Given the description of an element on the screen output the (x, y) to click on. 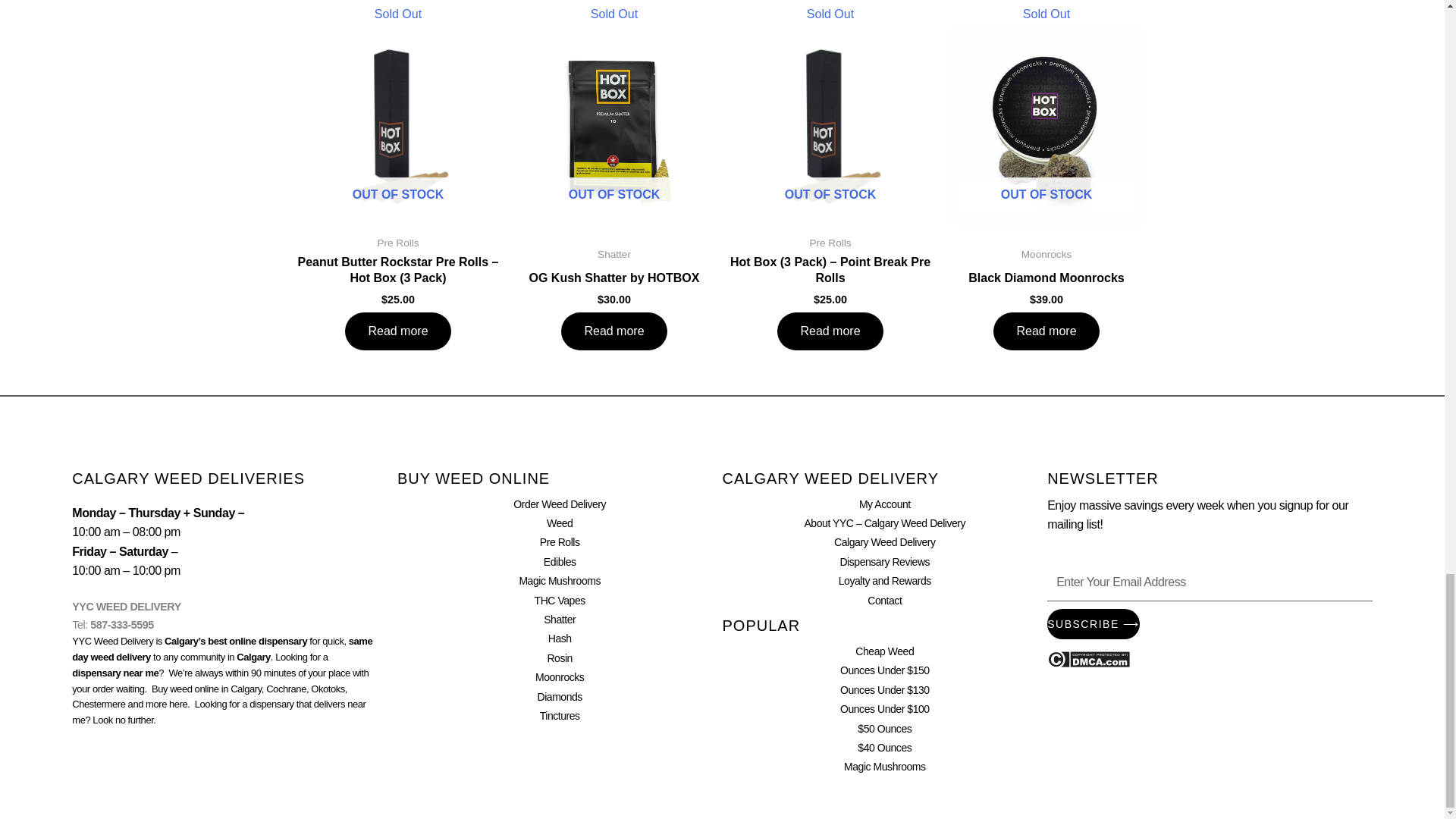
DMCA.com Protection Status (1087, 657)
